Given the description of an element on the screen output the (x, y) to click on. 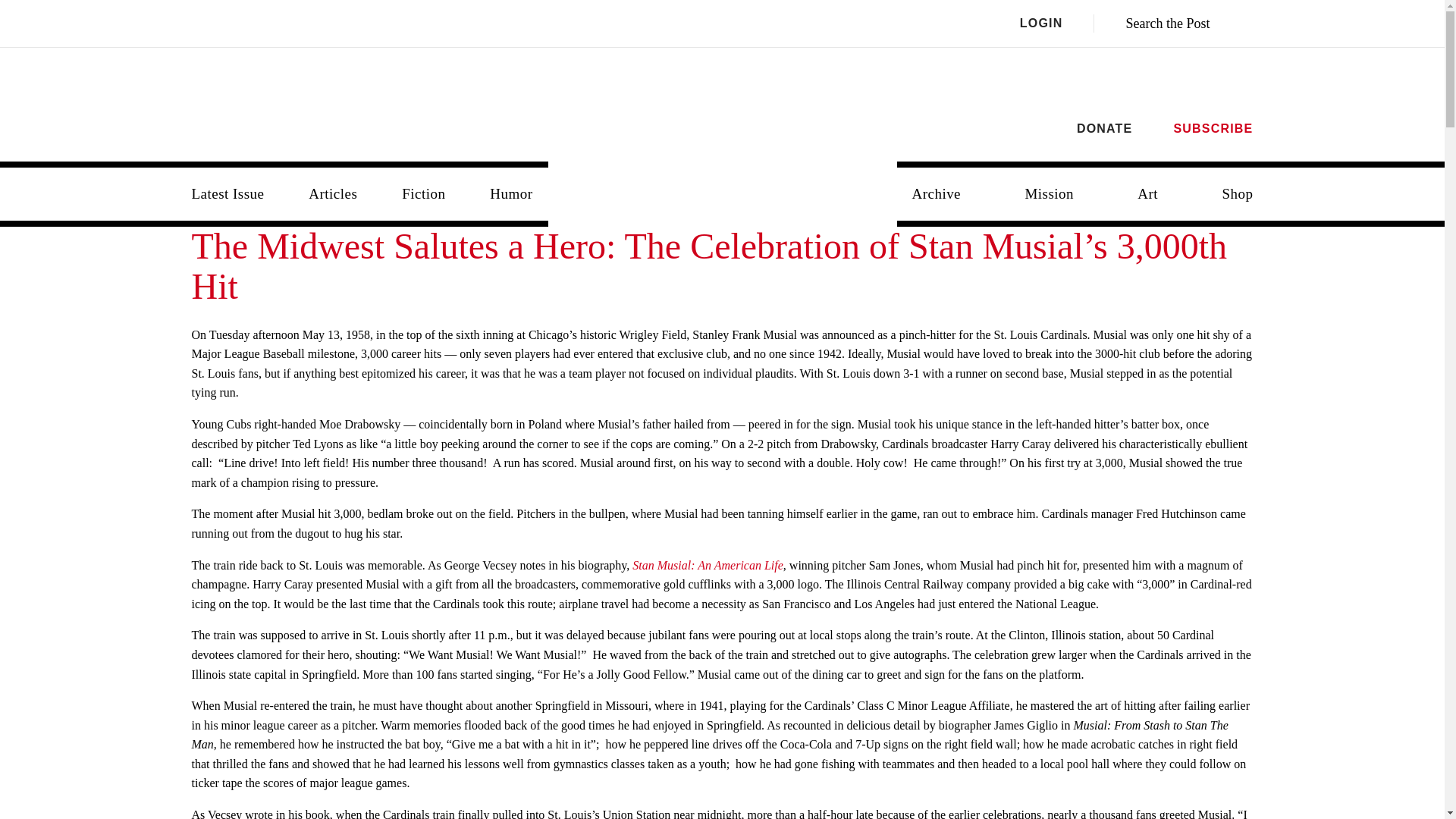
Art (1147, 193)
SUBSCRIBE (1212, 128)
Articles (333, 193)
Stan Musial: An American Life (707, 564)
Archive (935, 193)
Mission (1049, 193)
The Saturday Evening Post (722, 181)
LOGIN (1057, 23)
DONATE (1104, 128)
Latest Issue (227, 193)
